Given the description of an element on the screen output the (x, y) to click on. 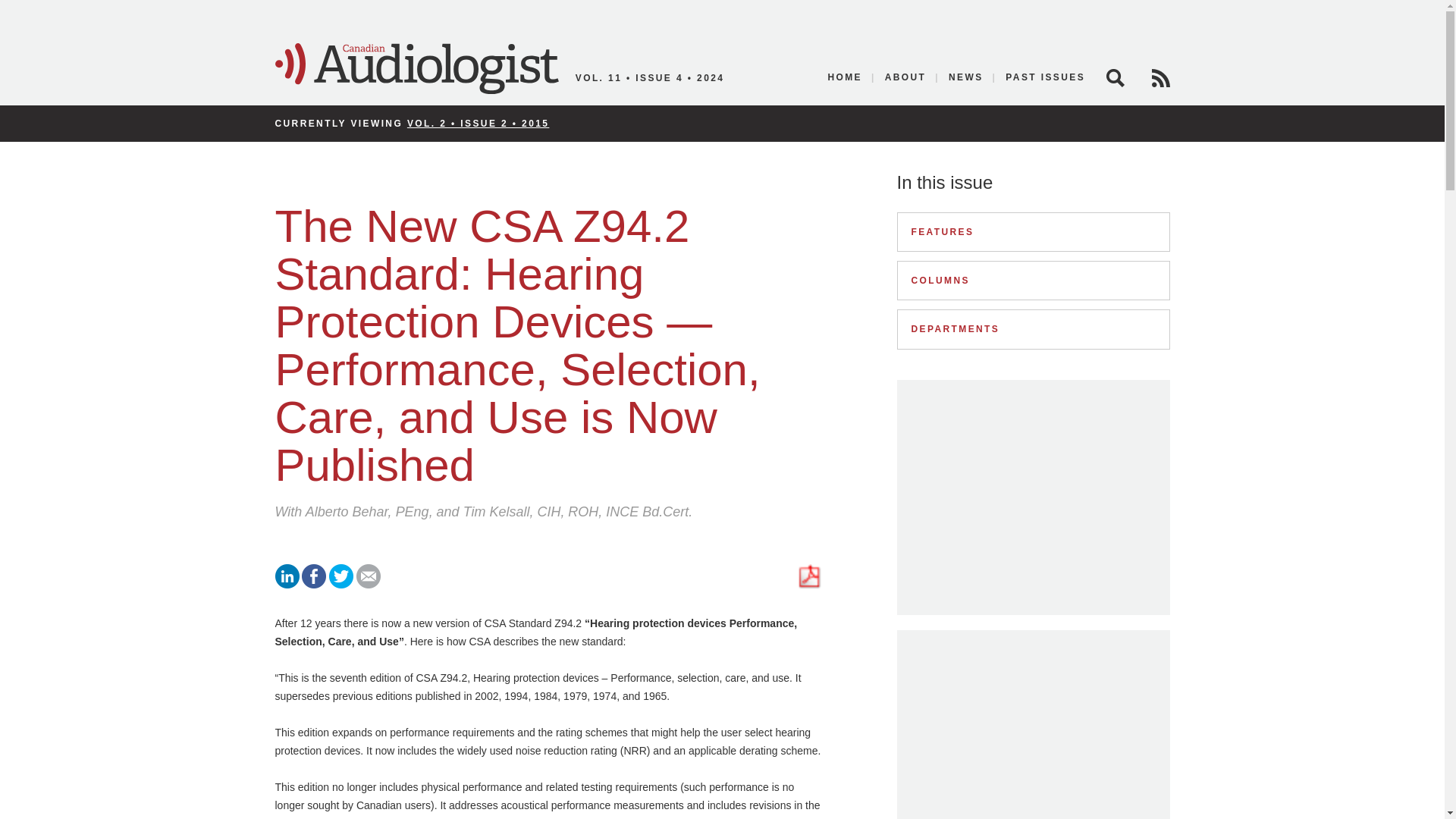
3rd party ad content (1032, 497)
Send email (368, 584)
About The Canadian Academy of Audiology (906, 77)
RSS Feed (1160, 77)
Share on LinkedIn (286, 584)
PAST ISSUES (1039, 77)
HOME (844, 77)
Search the Canadian Audiologists site (1115, 77)
3rd party ad content (1032, 735)
View the RSS Feed for Canadian Audiologists (1160, 77)
ABOUT (906, 77)
NEWS (965, 77)
News for Canadian Audiologists (965, 77)
Share on Facebook (313, 584)
Canadian Audiologist (416, 69)
